Given the description of an element on the screen output the (x, y) to click on. 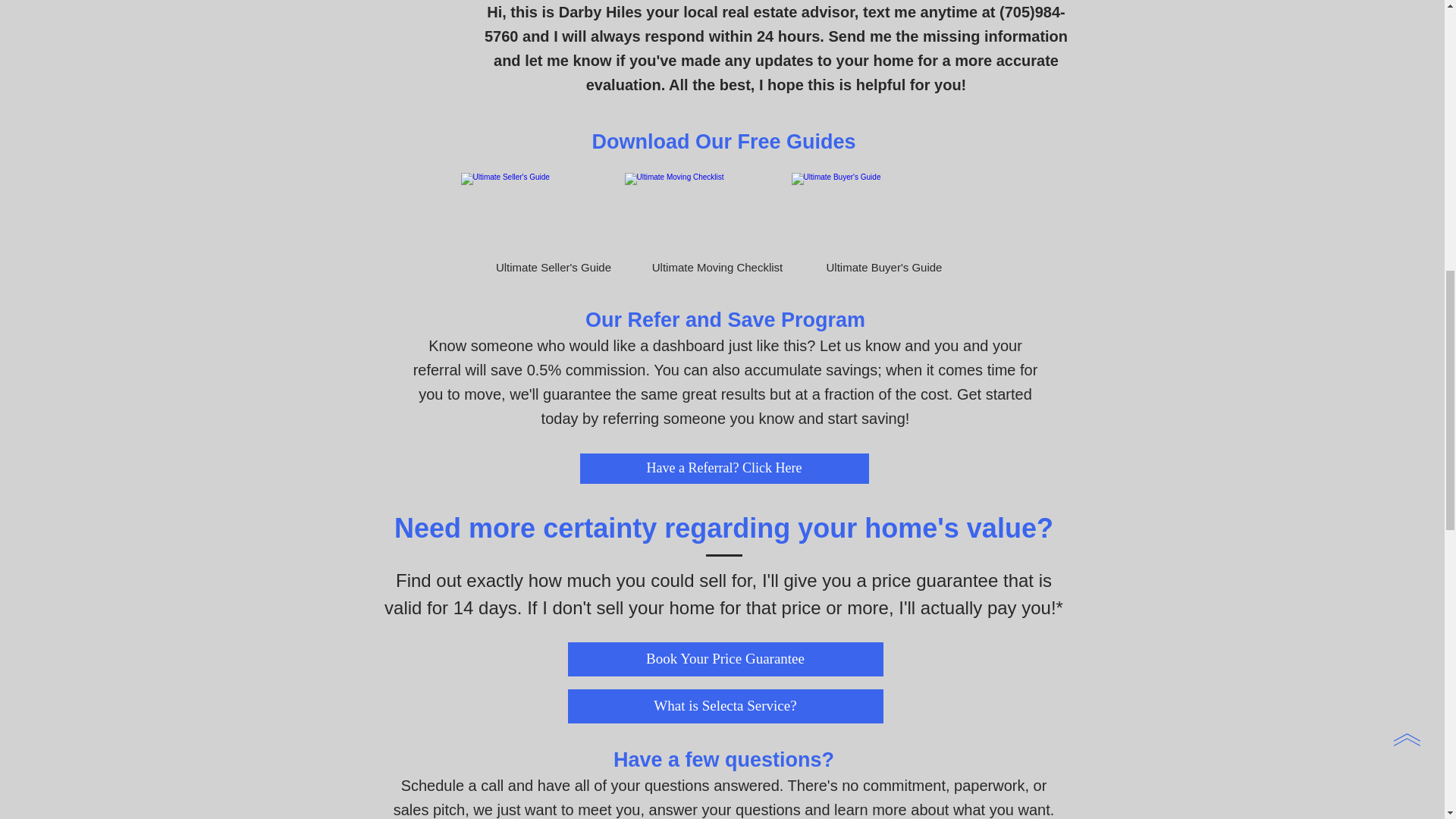
Ultimate Buyer's Guide (883, 225)
Ultimate Moving Checklist (716, 225)
Ultimate Seller's Guide (553, 225)
Have a Referral? Click Here (723, 468)
Ultimate Buyer's Guide (883, 225)
Book Your Price Guarantee (724, 658)
Ultimate Moving Checklist (716, 225)
Ultimate Seller's Guide (553, 225)
What is Selecta Service? (724, 705)
